Given the description of an element on the screen output the (x, y) to click on. 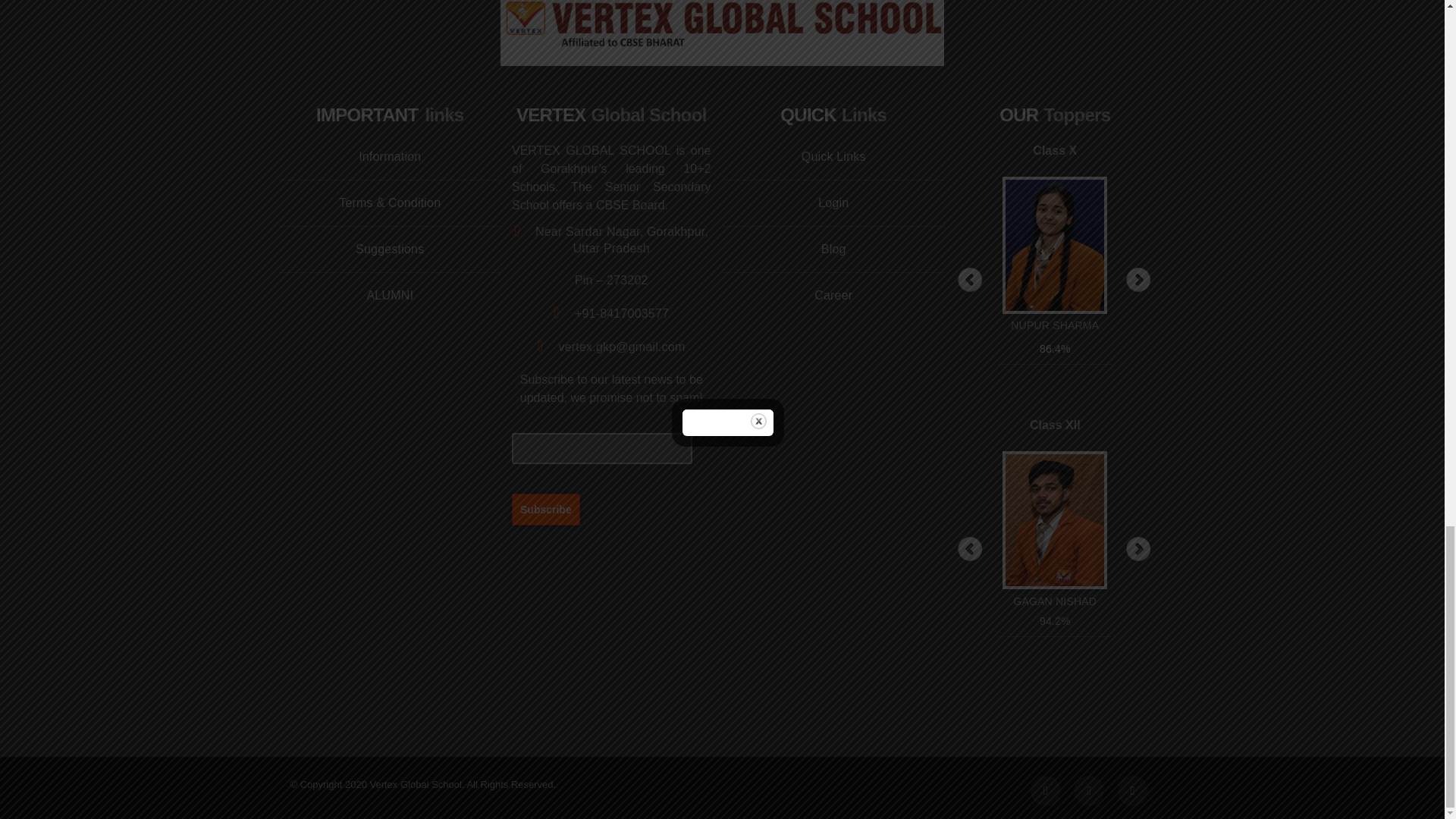
Subscribe (545, 508)
